Given the description of an element on the screen output the (x, y) to click on. 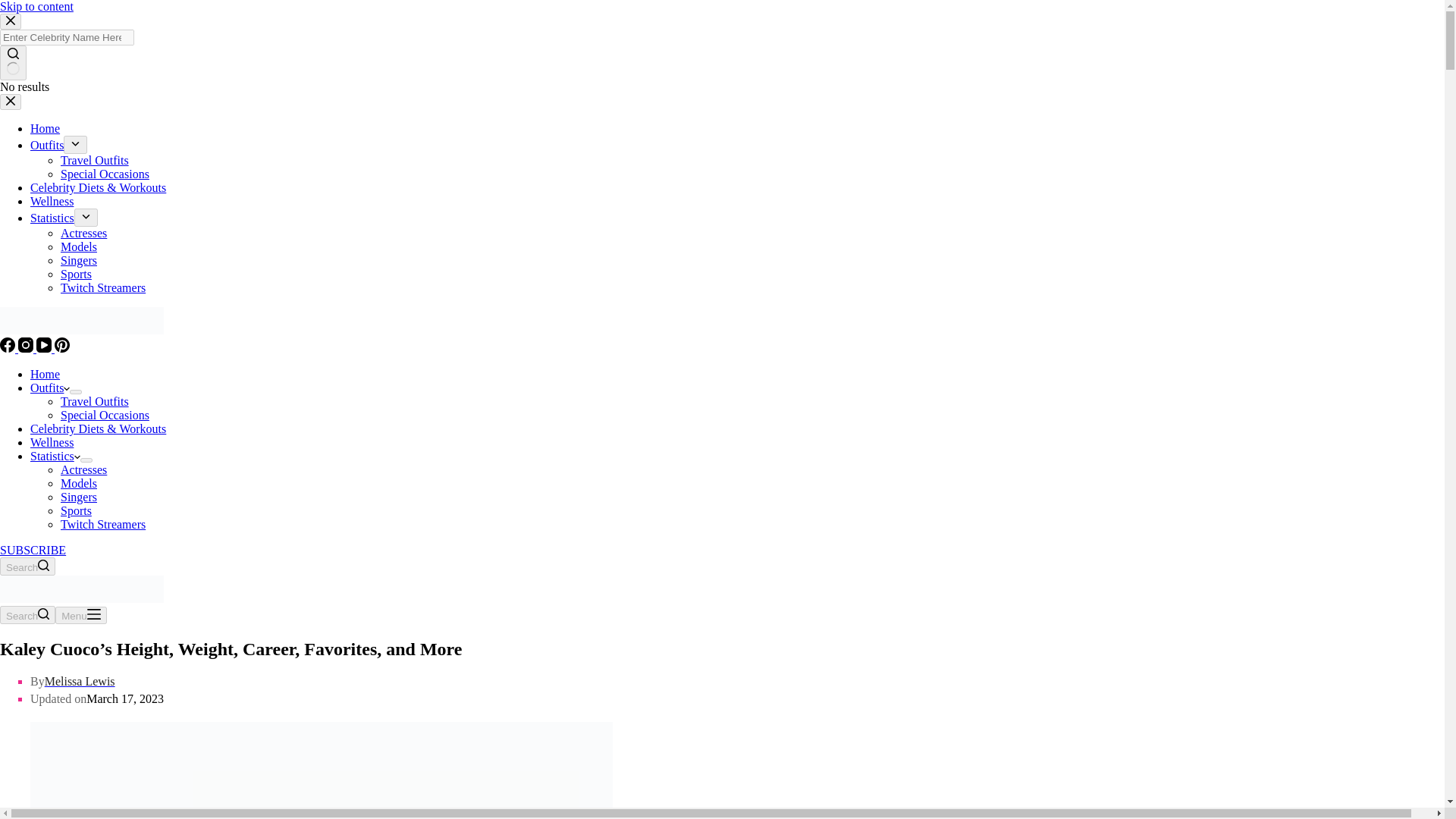
Outfits (47, 144)
Outfits (49, 387)
Twitch Streamers (103, 523)
Sports (76, 510)
Skip to content (37, 6)
Wellness (52, 441)
Travel Outfits (95, 400)
Twitch Streamers (103, 287)
Actresses (83, 232)
Statistics (55, 455)
